Given the description of an element on the screen output the (x, y) to click on. 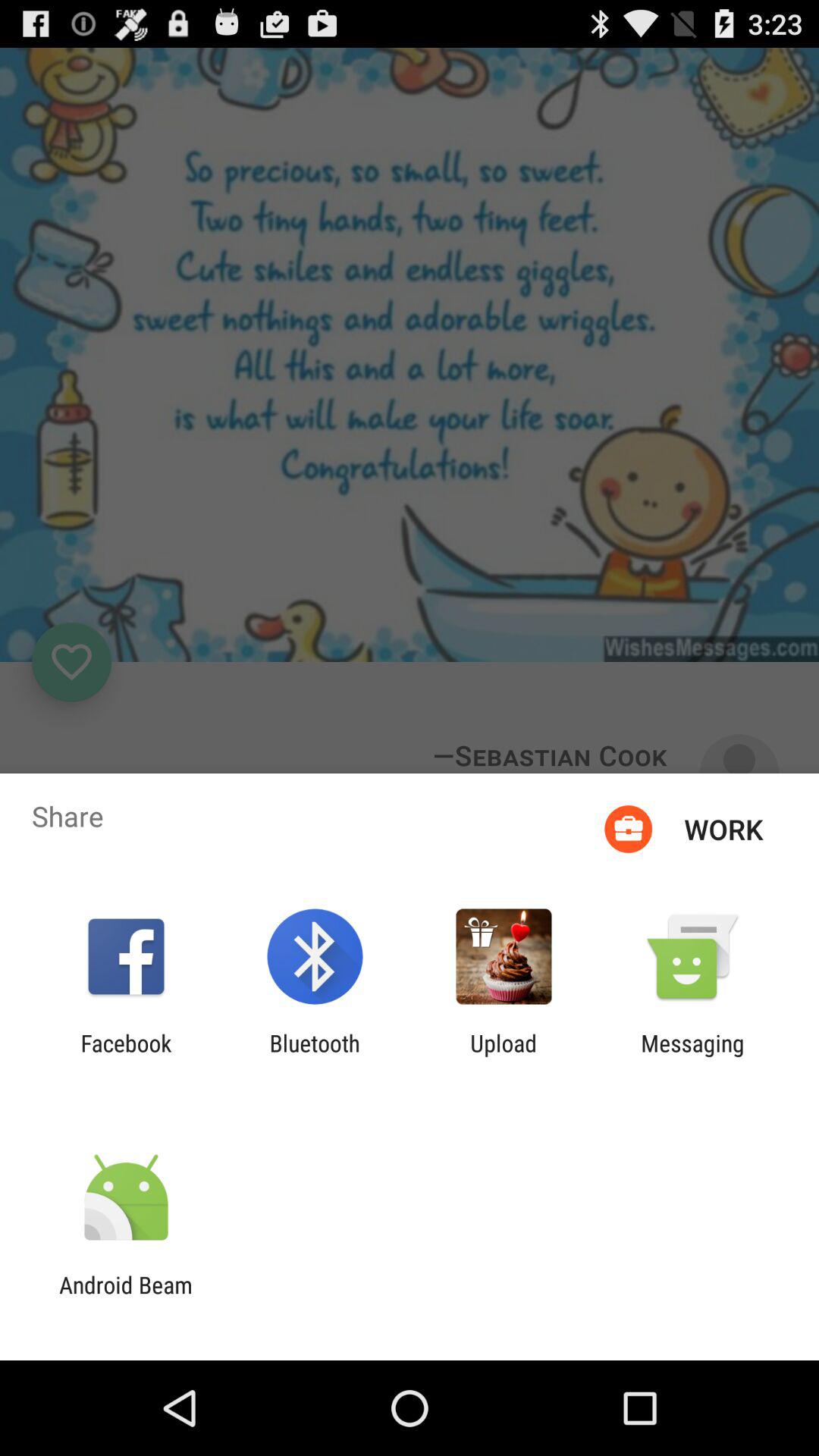
turn on icon to the left of messaging icon (503, 1056)
